Given the description of an element on the screen output the (x, y) to click on. 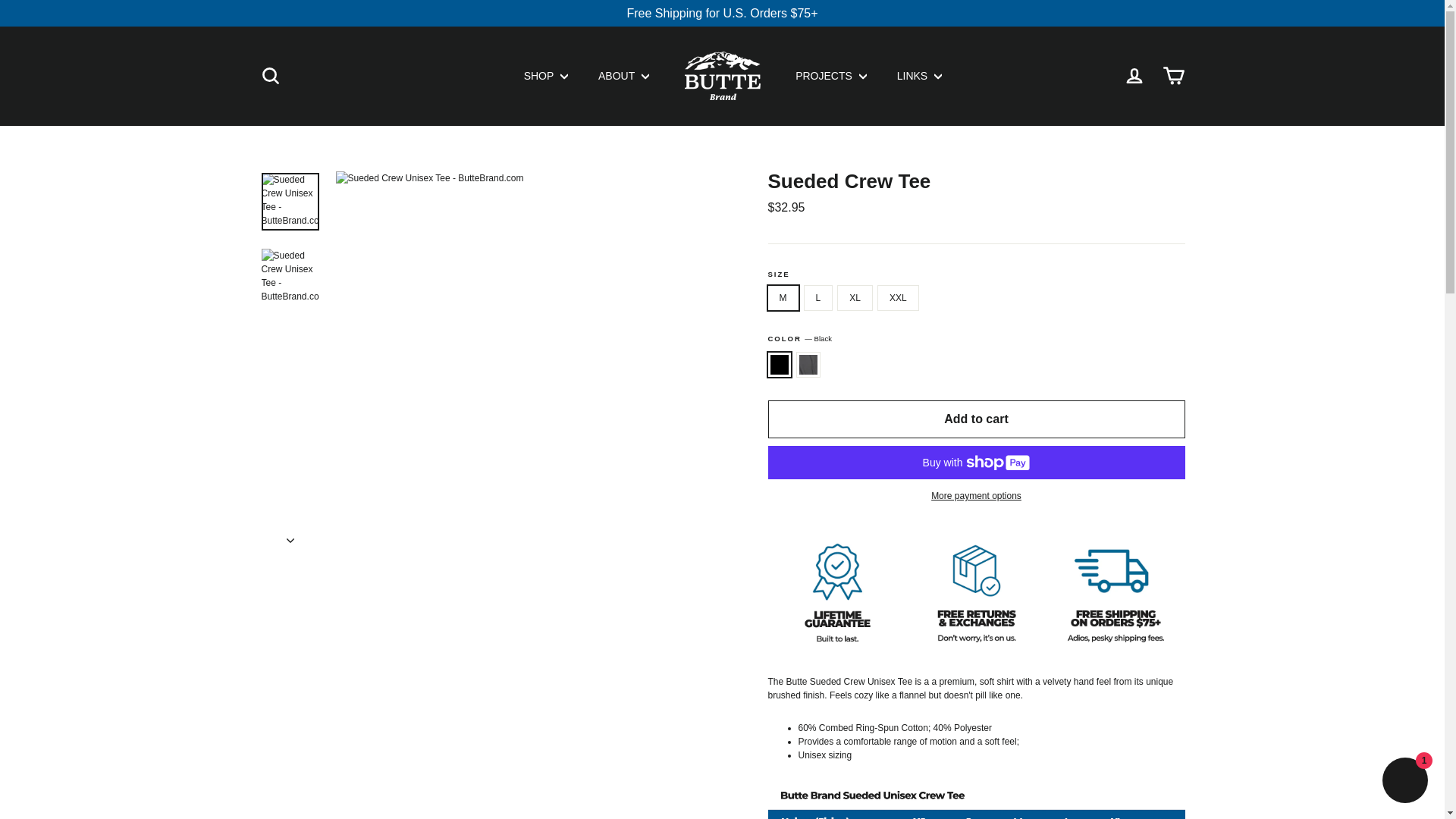
Butte Brand Policies - ButteBrand.com (976, 648)
SHOP (545, 75)
Shopify online store chat (1404, 781)
Search (269, 75)
